Given the description of an element on the screen output the (x, y) to click on. 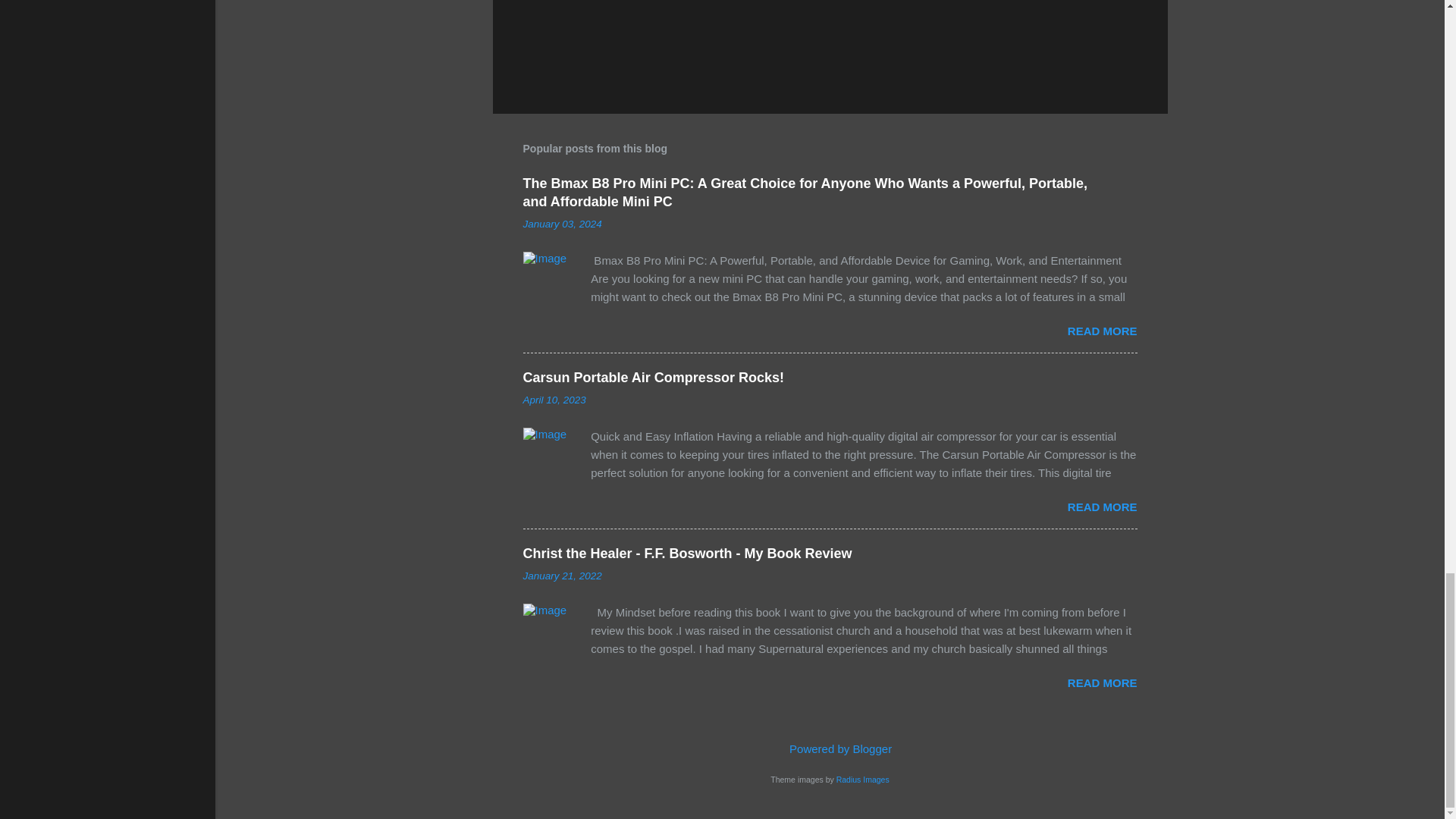
Christ the Healer - F.F. Bosworth - My Book Review (686, 553)
April 10, 2023 (554, 399)
READ MORE (1102, 682)
READ MORE (1102, 506)
Radius Images (862, 778)
READ MORE (1102, 330)
Carsun Portable Air Compressor Rocks! (653, 377)
Powered by Blogger (829, 748)
January 03, 2024 (562, 224)
